Given the description of an element on the screen output the (x, y) to click on. 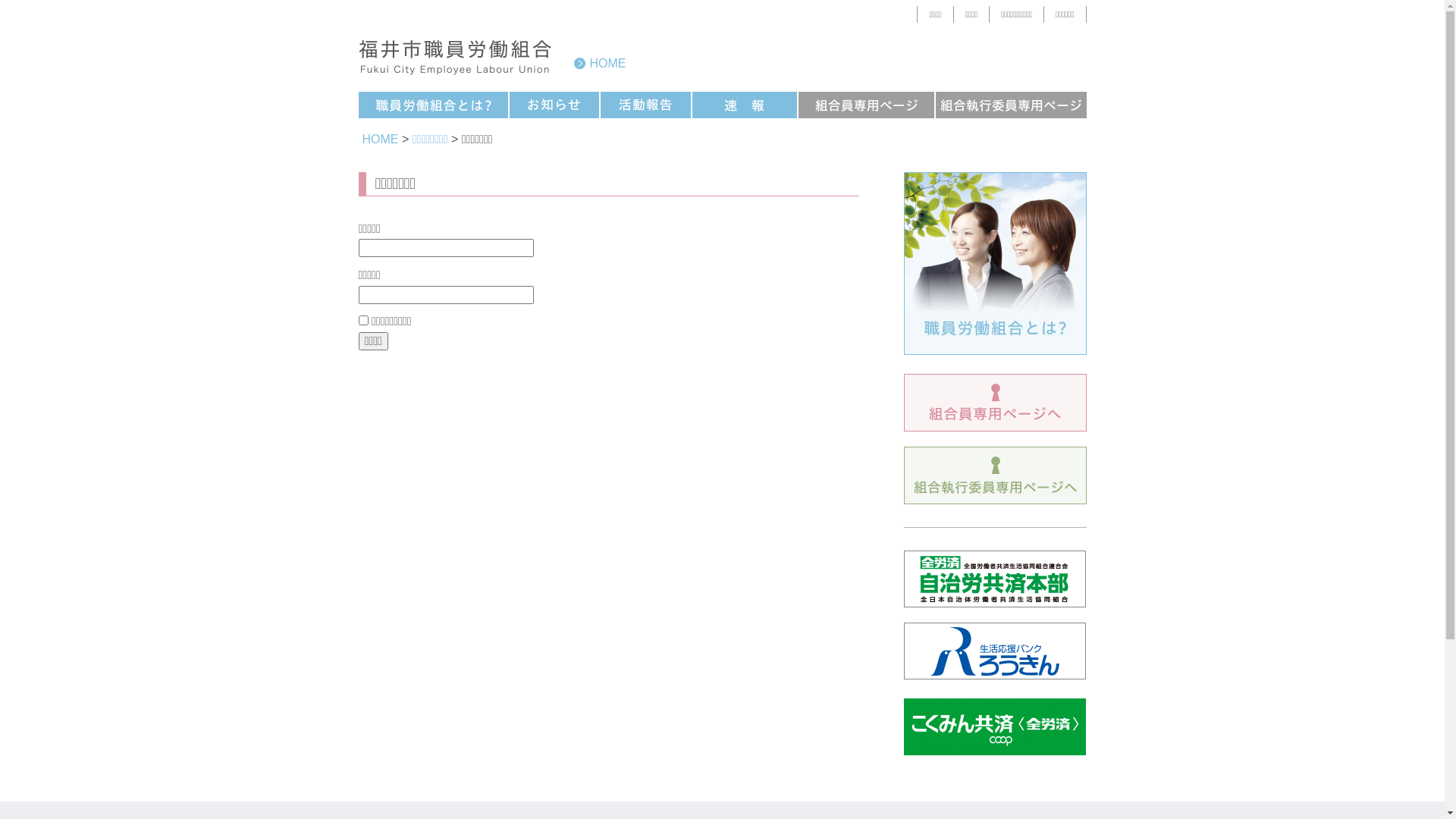
HOME Element type: text (380, 138)
HOME Element type: text (599, 62)
